Given the description of an element on the screen output the (x, y) to click on. 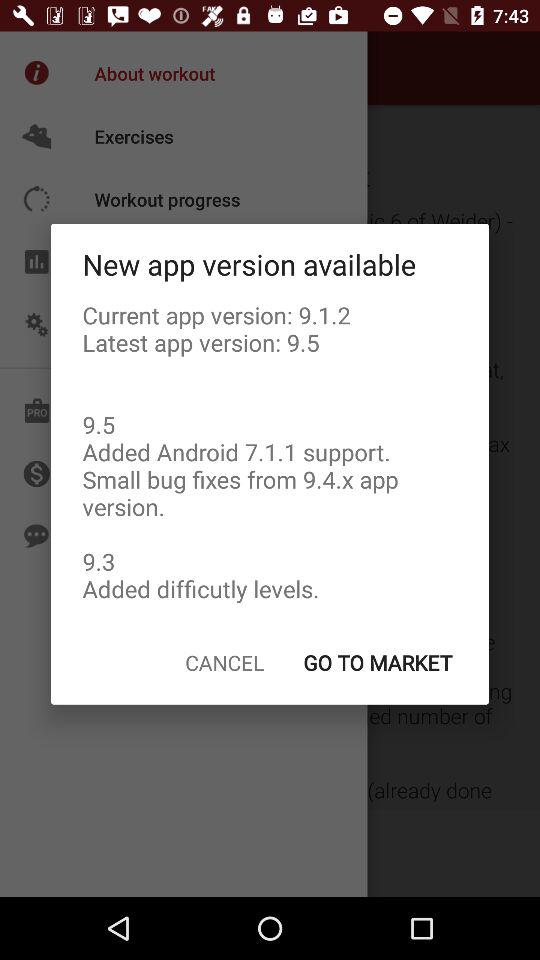
select icon at the bottom right corner (377, 662)
